Given the description of an element on the screen output the (x, y) to click on. 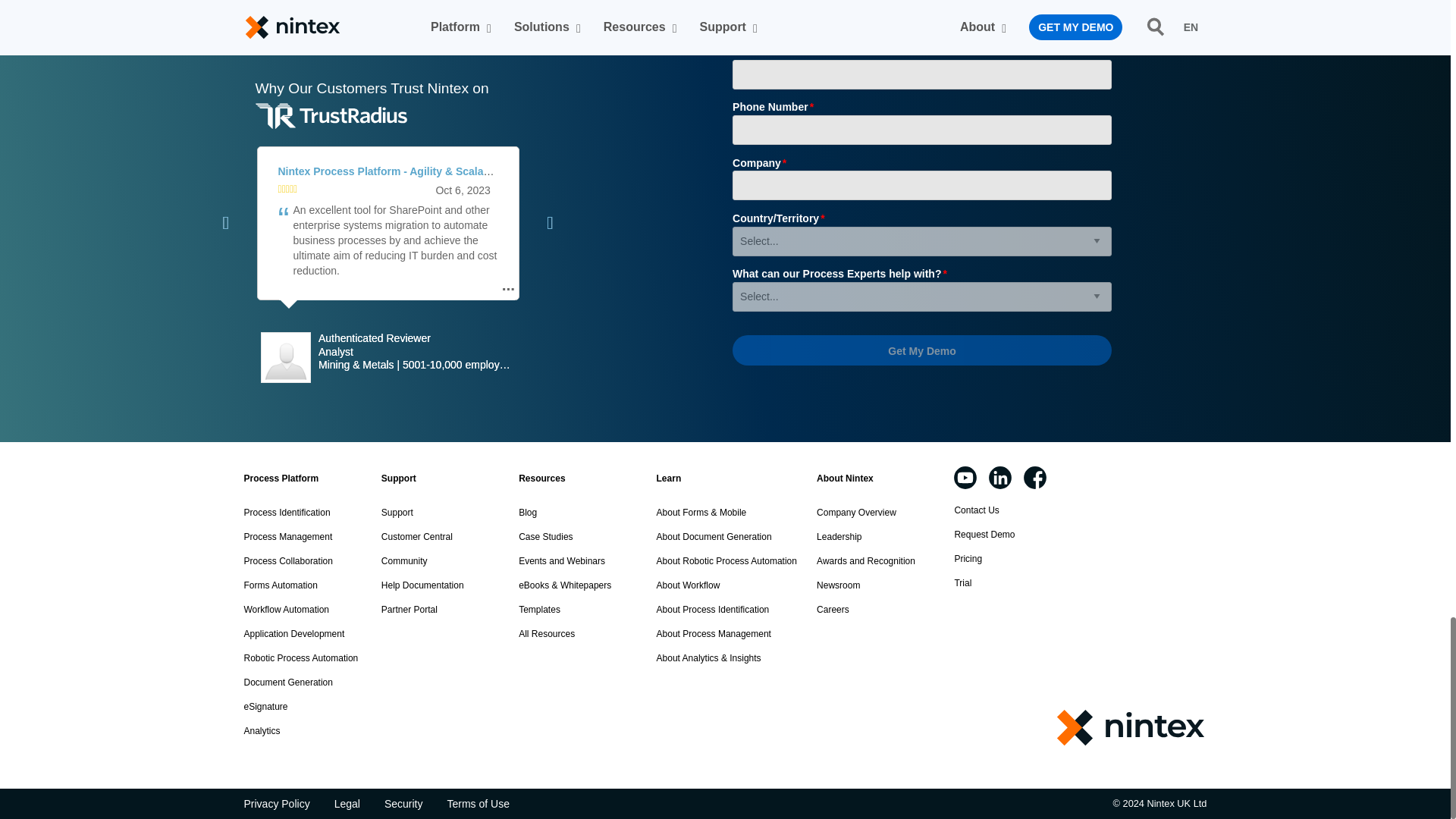
10 out of 10 (287, 191)
Analyst (416, 352)
Read full review on TrustRadius (393, 171)
